Given the description of an element on the screen output the (x, y) to click on. 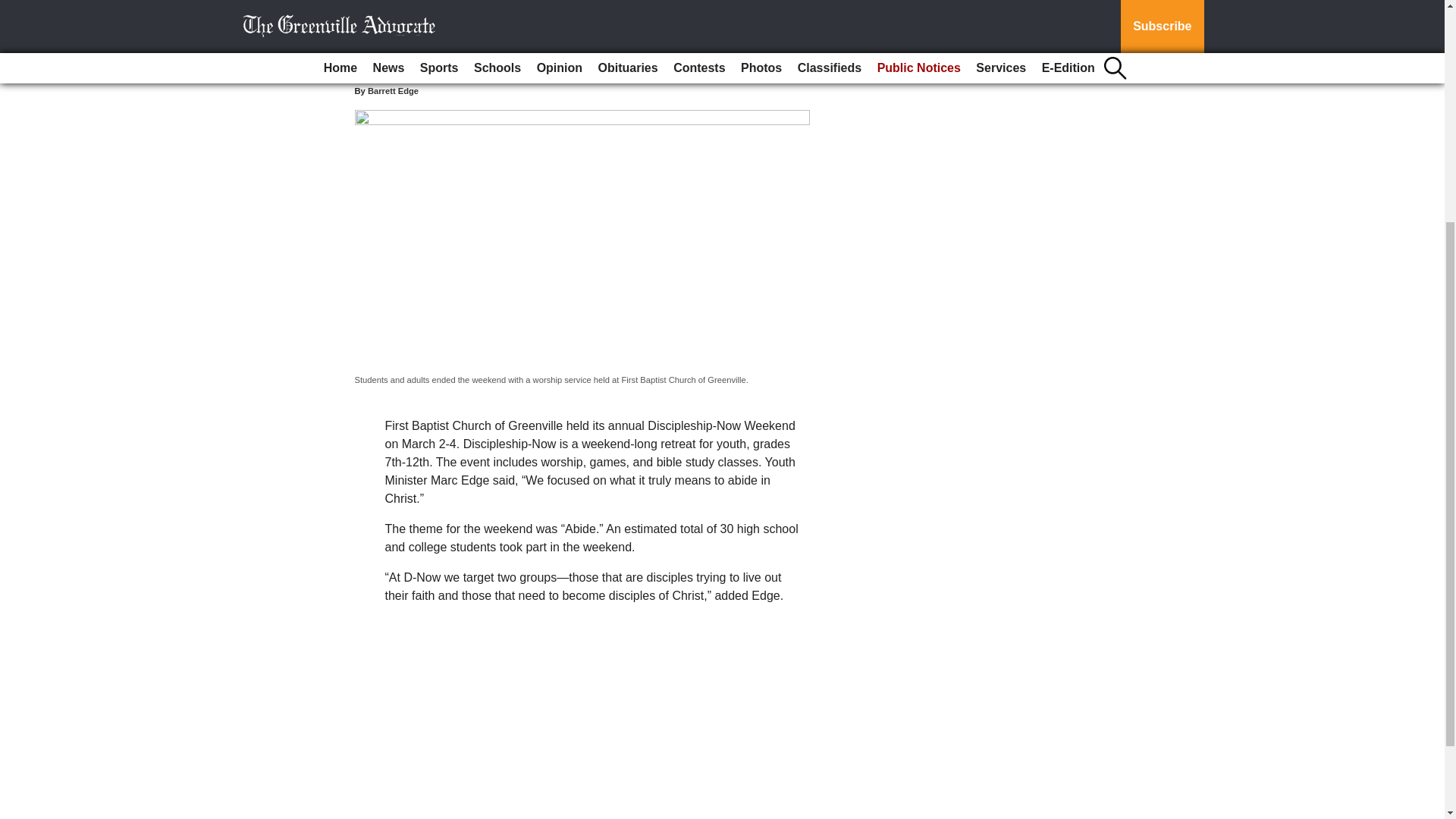
Barrett Edge (393, 90)
